Given the description of an element on the screen output the (x, y) to click on. 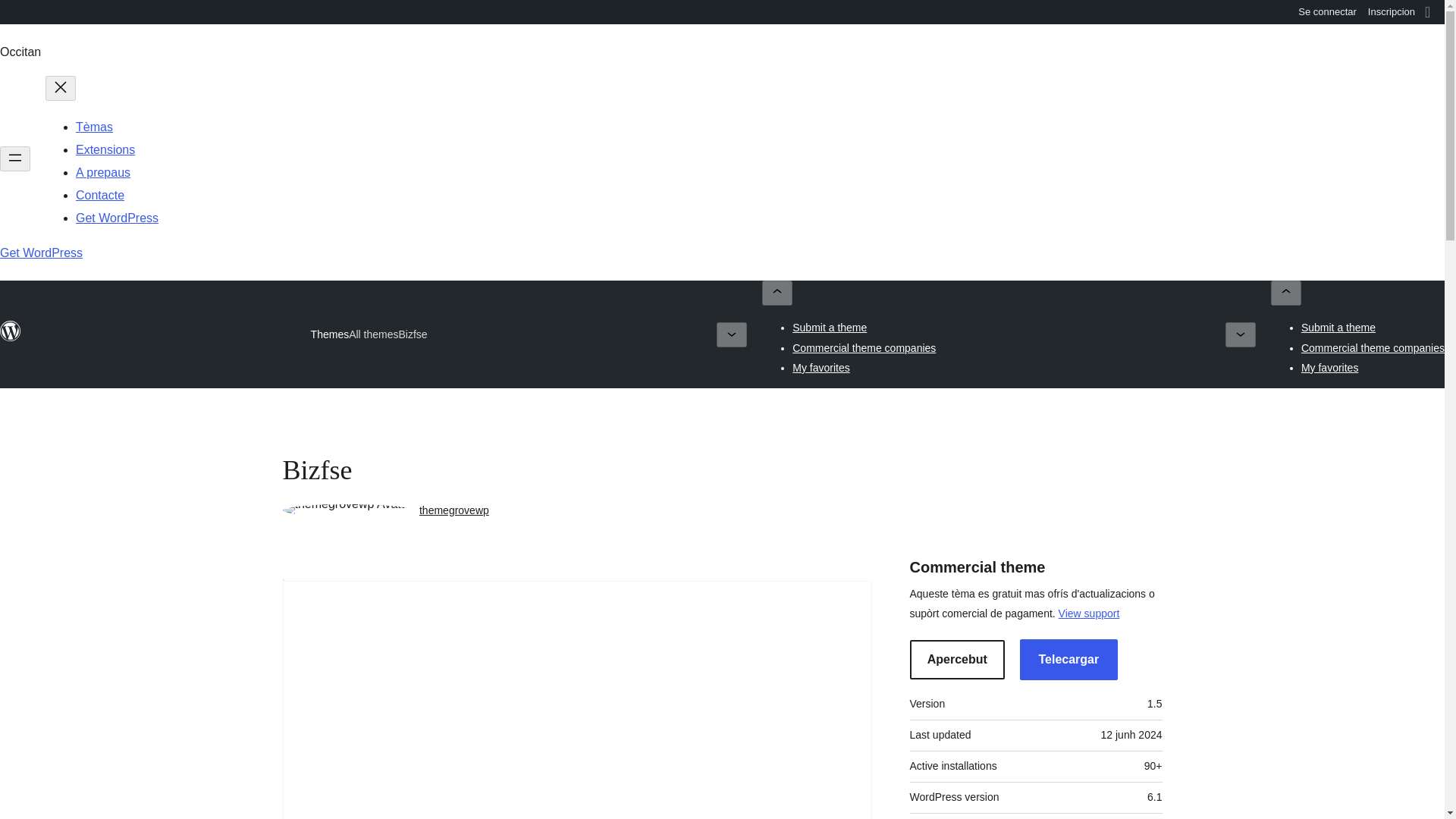
My favorites (1329, 367)
Telecargar (1068, 659)
themegrovewp (454, 510)
Bizfse (413, 334)
Commercial theme companies (864, 346)
WordPress.org (10, 10)
Themes (330, 334)
WordPress.org (10, 331)
A prepaus (103, 172)
All themes (373, 333)
Extensions (105, 149)
Inscripcion (1391, 12)
My favorites (820, 367)
WordPress.org (10, 337)
Submit a theme (1338, 327)
